Given the description of an element on the screen output the (x, y) to click on. 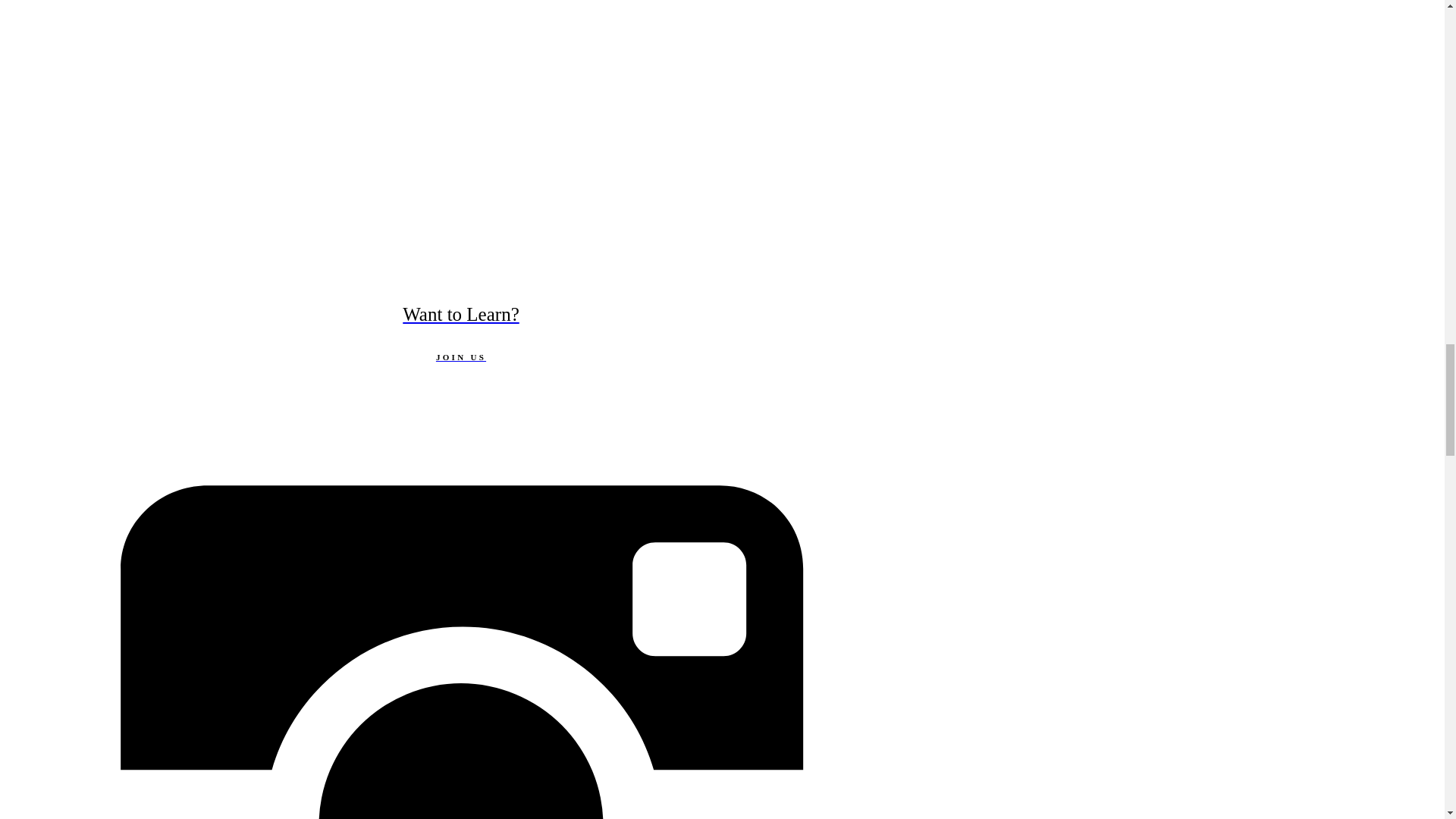
Want to Learn? (460, 314)
